Given the description of an element on the screen output the (x, y) to click on. 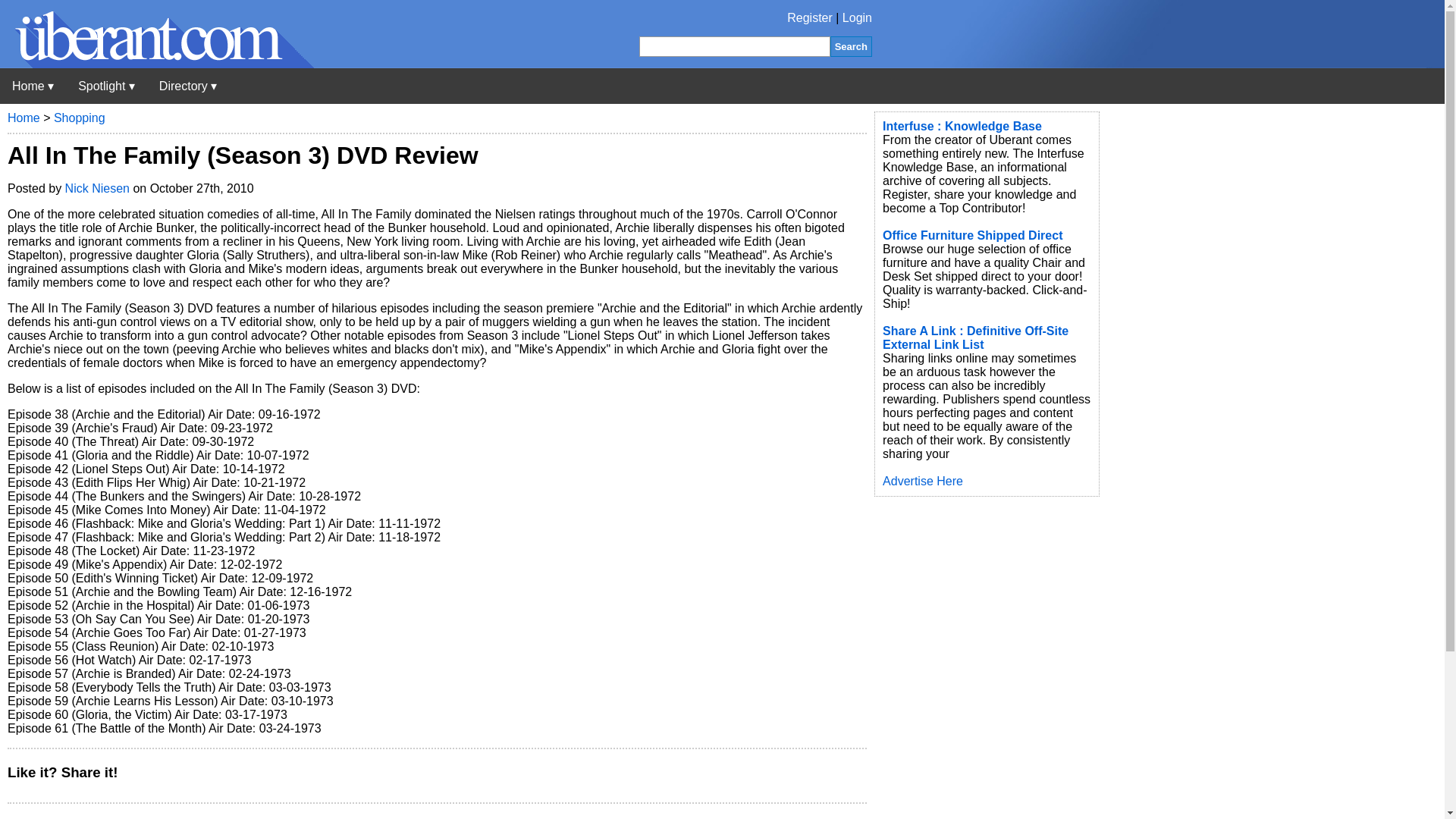
Uberant (32, 85)
Uberant (157, 63)
Search (850, 46)
Login (857, 17)
Search (850, 46)
Register (809, 17)
